Given the description of an element on the screen output the (x, y) to click on. 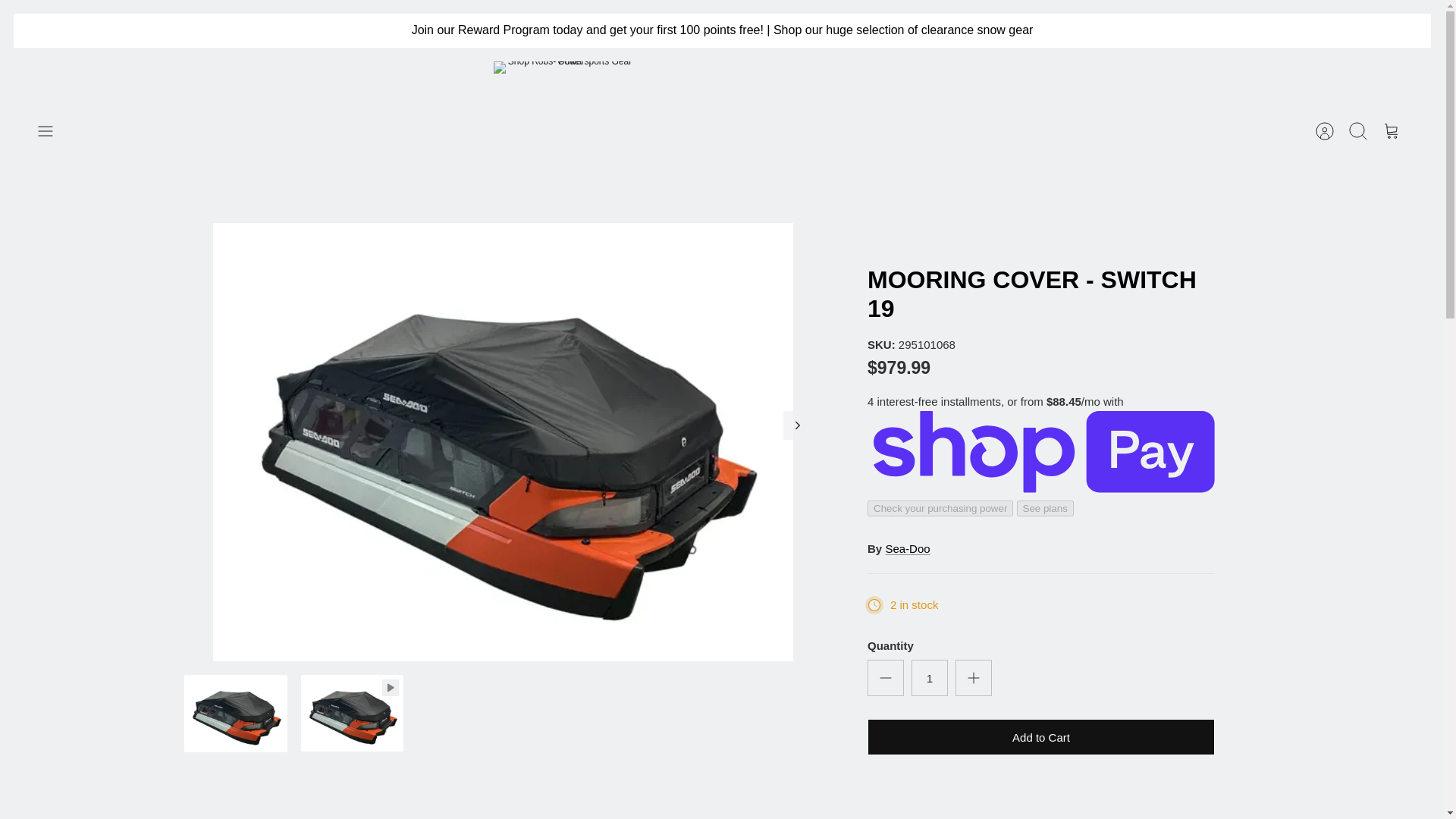
Shop Robs- Powersports Gear Outlet  (563, 131)
Right (797, 425)
1 (929, 678)
